Given the description of an element on the screen output the (x, y) to click on. 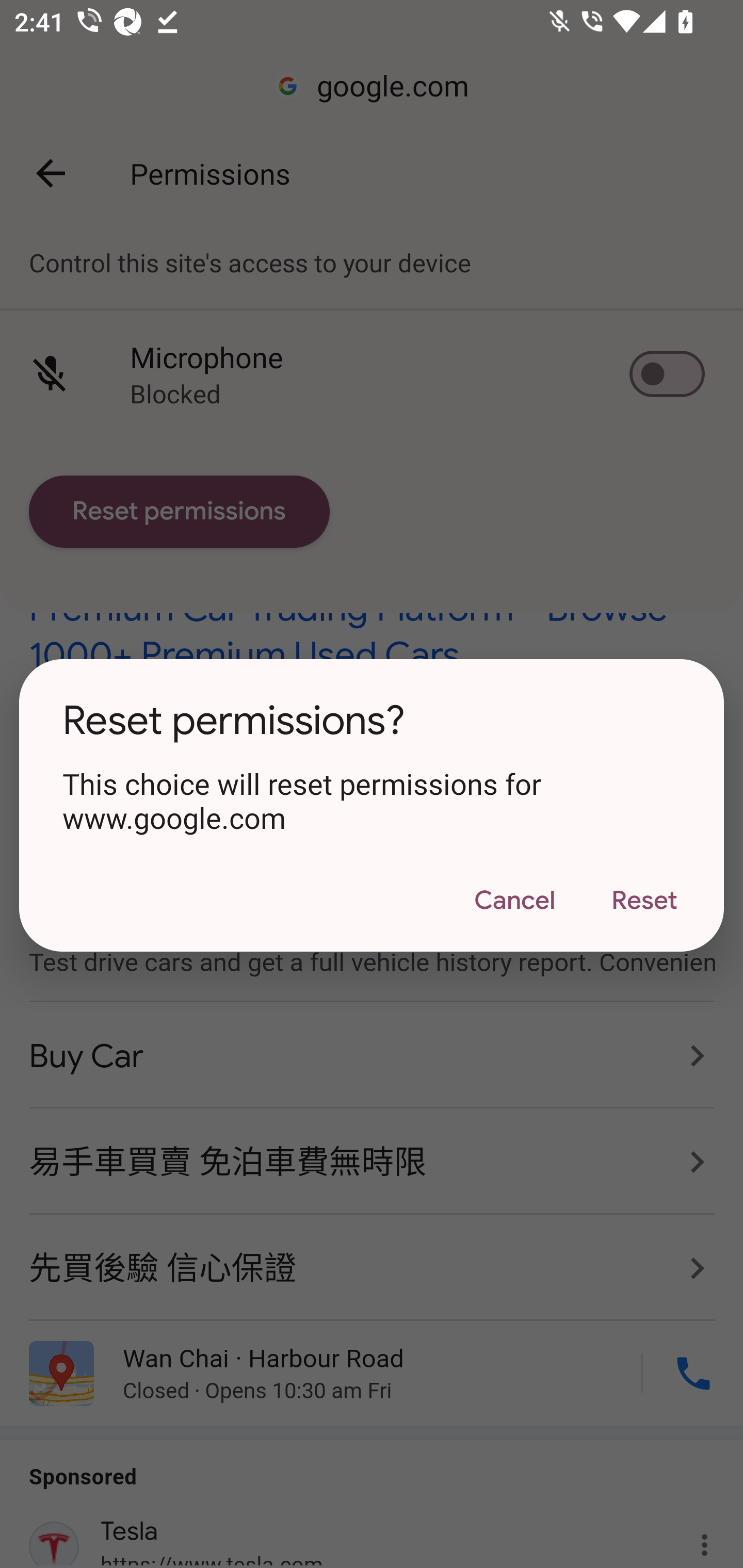
Cancel (514, 900)
Reset (644, 900)
